Given the description of an element on the screen output the (x, y) to click on. 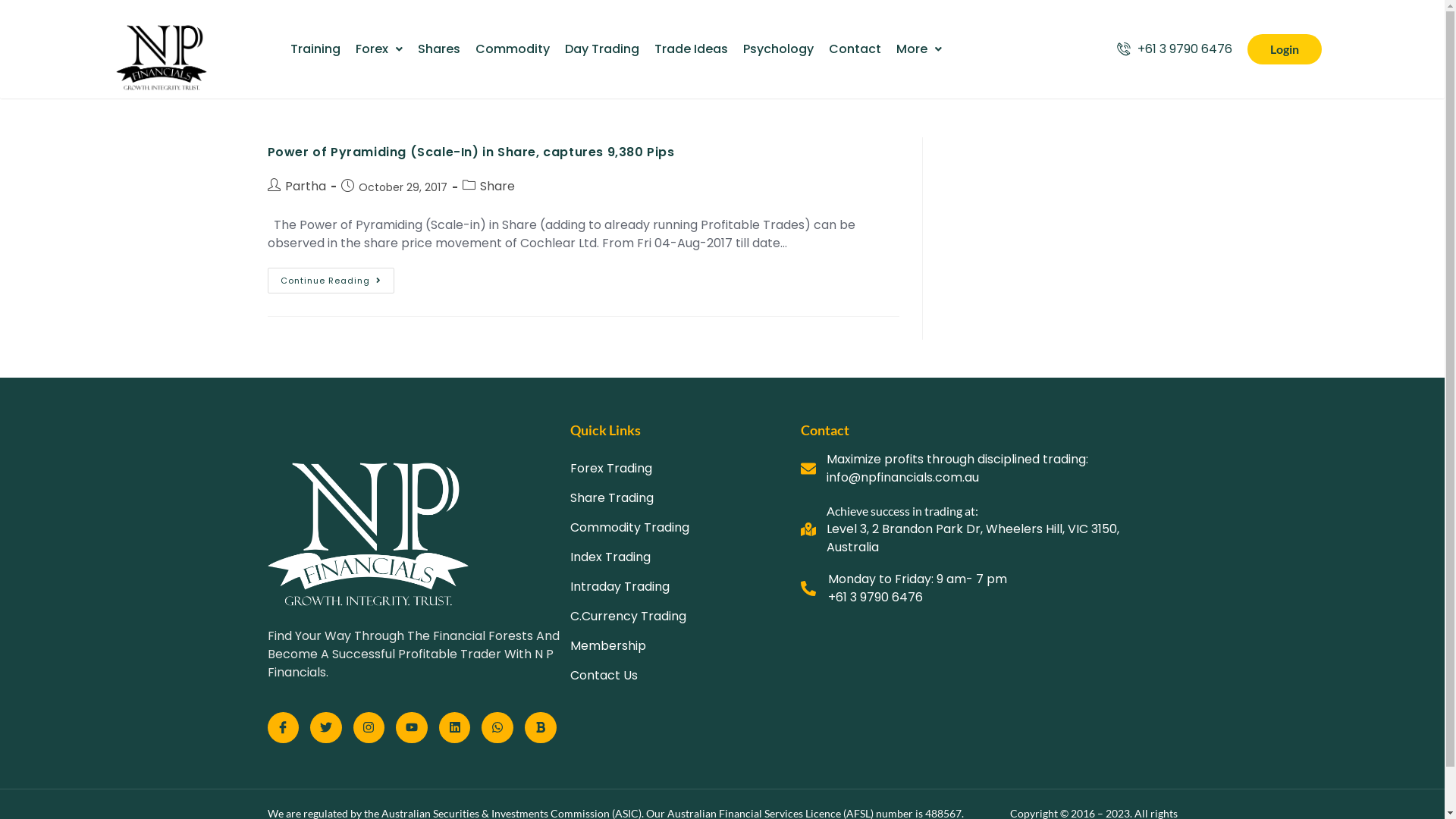
Contact Us Element type: text (685, 675)
Continue Reading Element type: text (329, 280)
Commodity Element type: text (511, 48)
Psychology Element type: text (778, 48)
+61 3 9790 6476 Element type: text (1174, 49)
Index Trading Element type: text (685, 557)
Login Element type: text (1283, 49)
Contact Element type: text (854, 48)
Commodity Trading Element type: text (685, 527)
Share Element type: text (496, 185)
Training Element type: text (314, 48)
Trade Ideas Element type: text (690, 48)
Power of Pyramiding (Scale-In) in Share, captures 9,380 Pips Element type: text (470, 151)
C.Currency Trading Element type: text (685, 616)
Forex Element type: text (378, 48)
Shares Element type: text (438, 48)
Monday to Friday: 9 am- 7 pm Element type: text (917, 578)
info@npfinancials.com.au Element type: text (902, 477)
Achieve success in trading at: Element type: text (902, 510)
Share Trading Element type: text (685, 498)
Intraday Trading Element type: text (685, 586)
Membership Element type: text (685, 646)
Maximize profits through disciplined trading: Element type: text (957, 458)
+61 3 9790 6476 Element type: text (875, 596)
Day Trading Element type: text (601, 48)
Partha Element type: text (305, 185)
Forex Trading Element type: text (685, 468)
More Element type: text (918, 48)
